Given the description of an element on the screen output the (x, y) to click on. 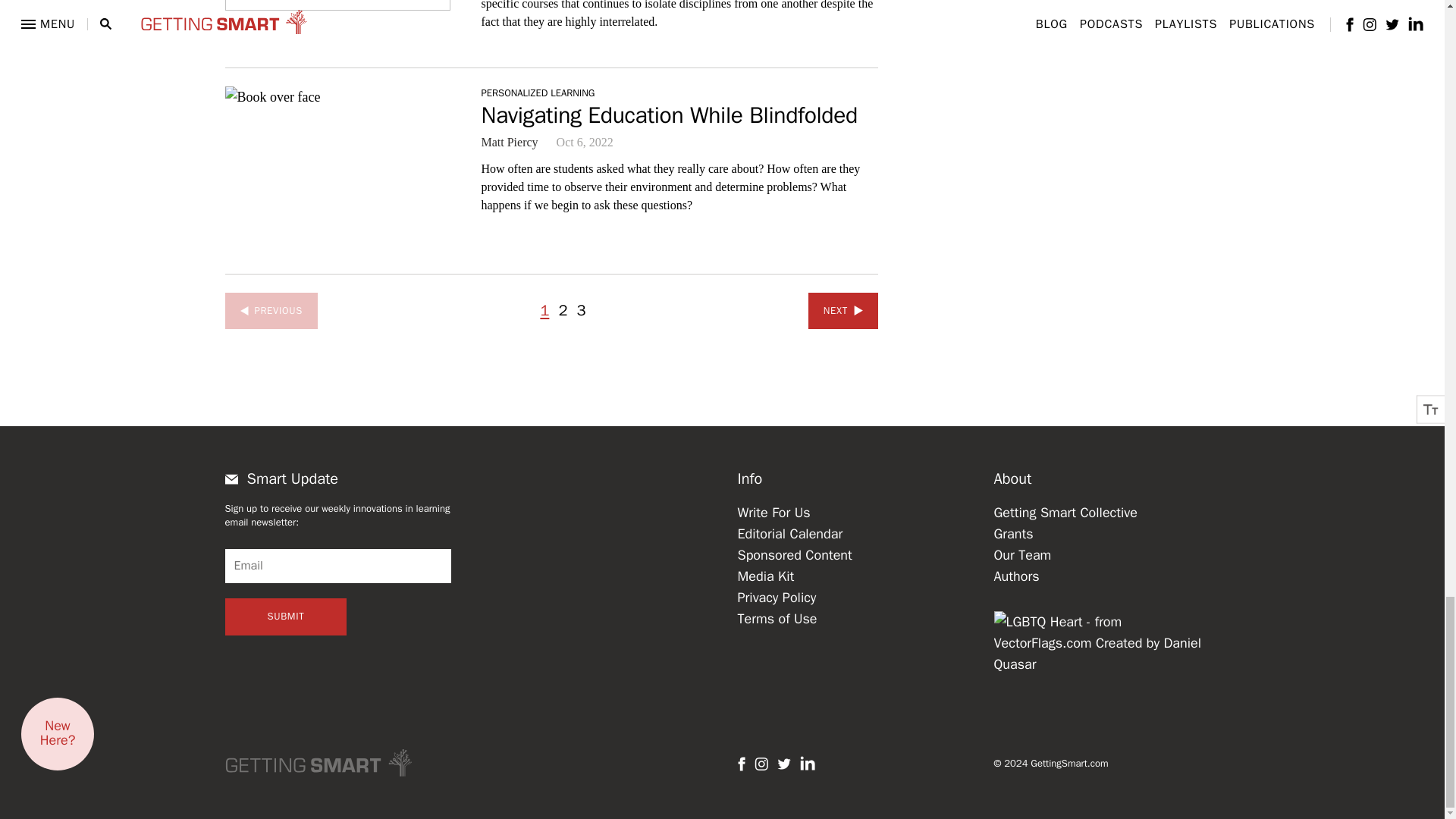
twitter (783, 763)
instagram (760, 763)
linkedin (806, 762)
